Given the description of an element on the screen output the (x, y) to click on. 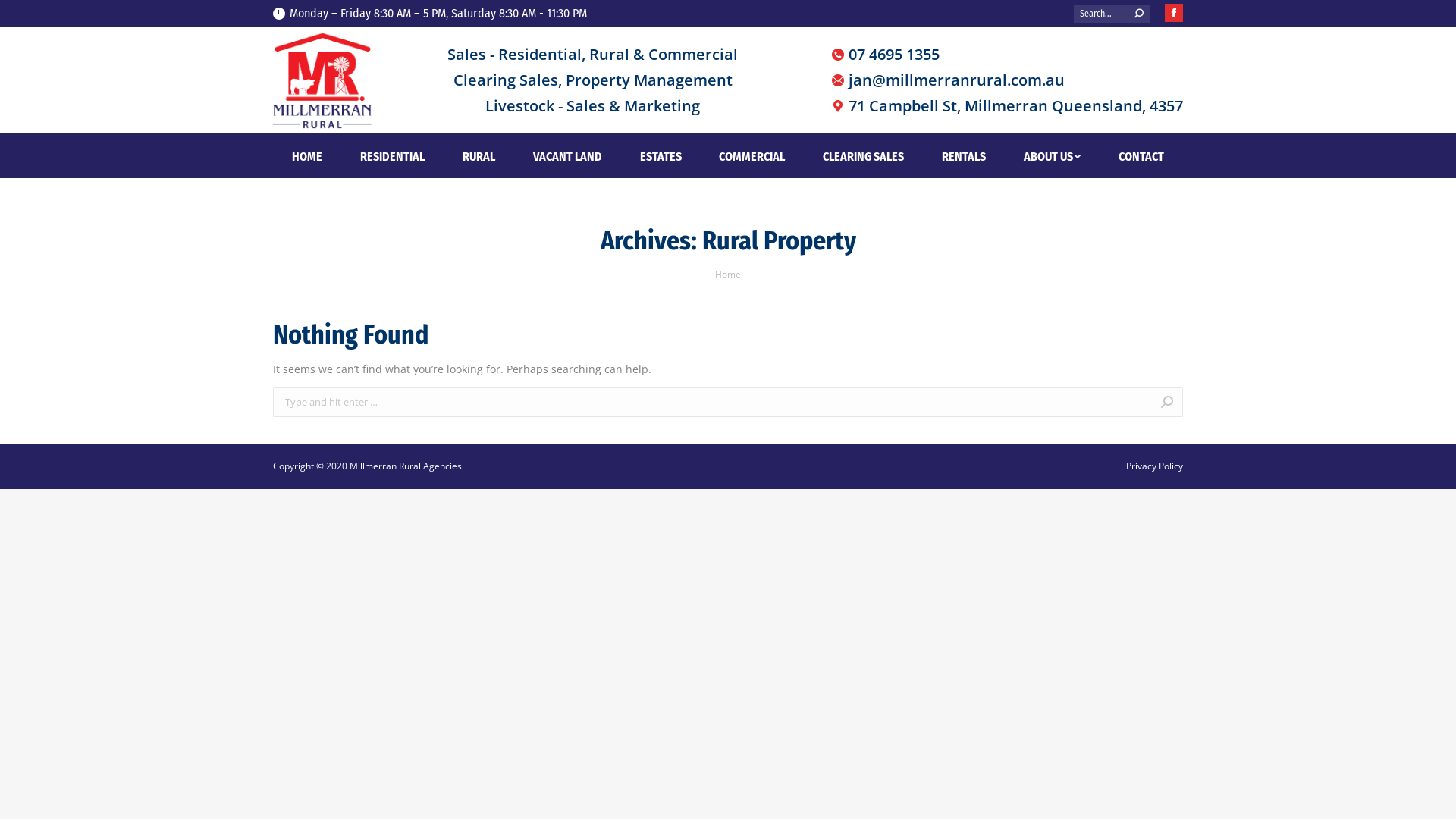
ABOUT US Element type: text (1051, 155)
CLEARING SALES Element type: text (862, 155)
VACANT LAND Element type: text (567, 155)
07 4695 1355 Element type: text (885, 54)
Search form Element type: hover (1111, 13)
Go! Element type: text (25, 16)
jan@millmerranrural.com.au Element type: text (947, 80)
Privacy Policy Element type: text (1154, 465)
RURAL Element type: text (478, 155)
Home Element type: text (727, 273)
CONTACT Element type: text (1141, 155)
Facebook page opens in new window Element type: text (1173, 12)
Go! Element type: text (1208, 403)
HOME Element type: text (307, 155)
COMMERCIAL Element type: text (752, 155)
ESTATES Element type: text (660, 155)
RENTALS Element type: text (963, 155)
RESIDENTIAL Element type: text (392, 155)
